Given the description of an element on the screen output the (x, y) to click on. 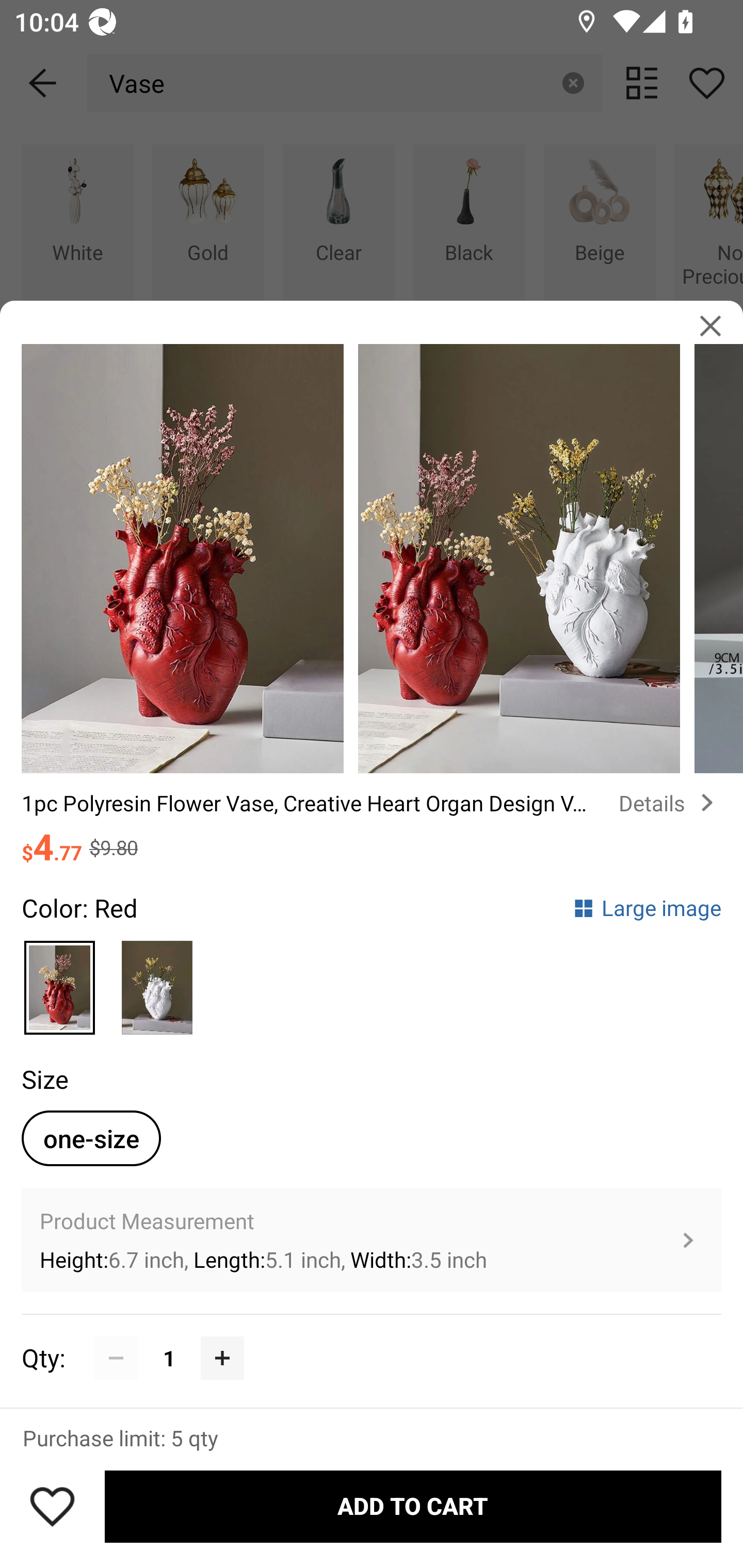
Details (669, 802)
Color: Red (79, 907)
Large image (646, 907)
Red (59, 982)
White (156, 982)
Size (44, 1078)
one-size one-sizeselected option (91, 1138)
ADD TO CART (412, 1506)
Save (52, 1505)
